Given the description of an element on the screen output the (x, y) to click on. 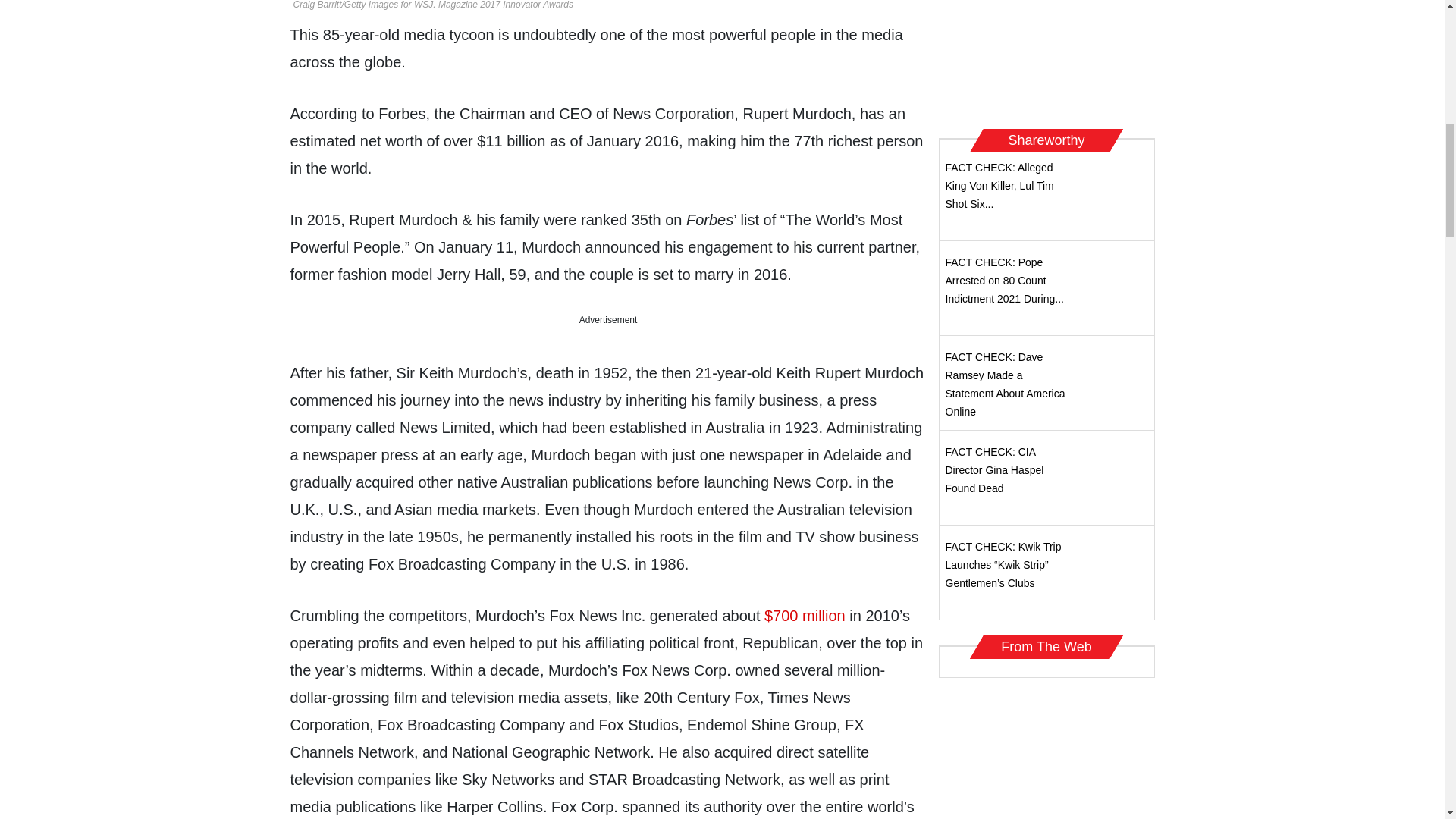
Advertisement (1046, 59)
FACT CHECK: CIA Director Gina Haspel Found Dead (993, 469)
FACT CHECK: Alleged King Von Killer, Lul Tim Shot Six... (998, 185)
